Given the description of an element on the screen output the (x, y) to click on. 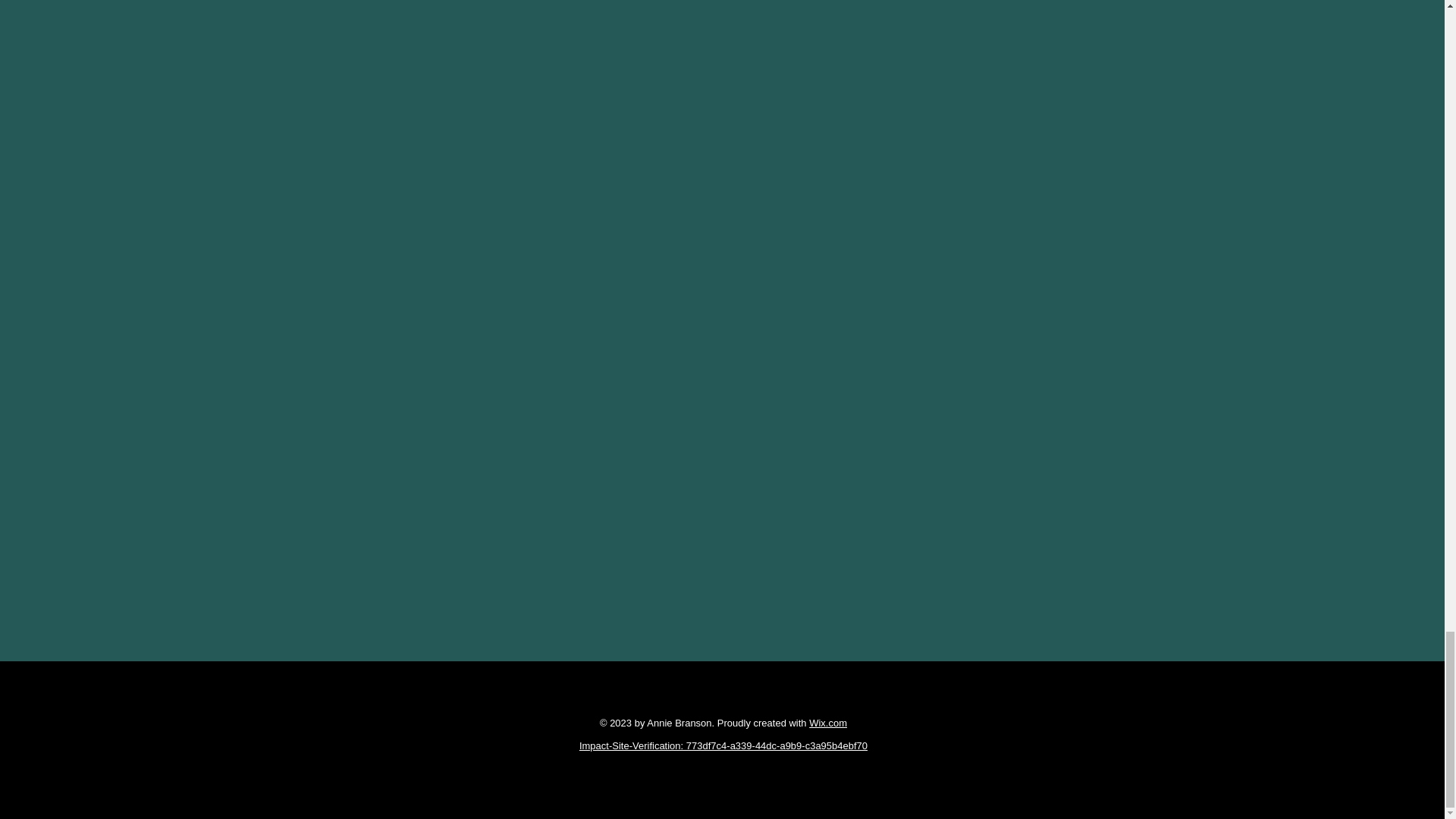
Wix.com (828, 722)
